Given the description of an element on the screen output the (x, y) to click on. 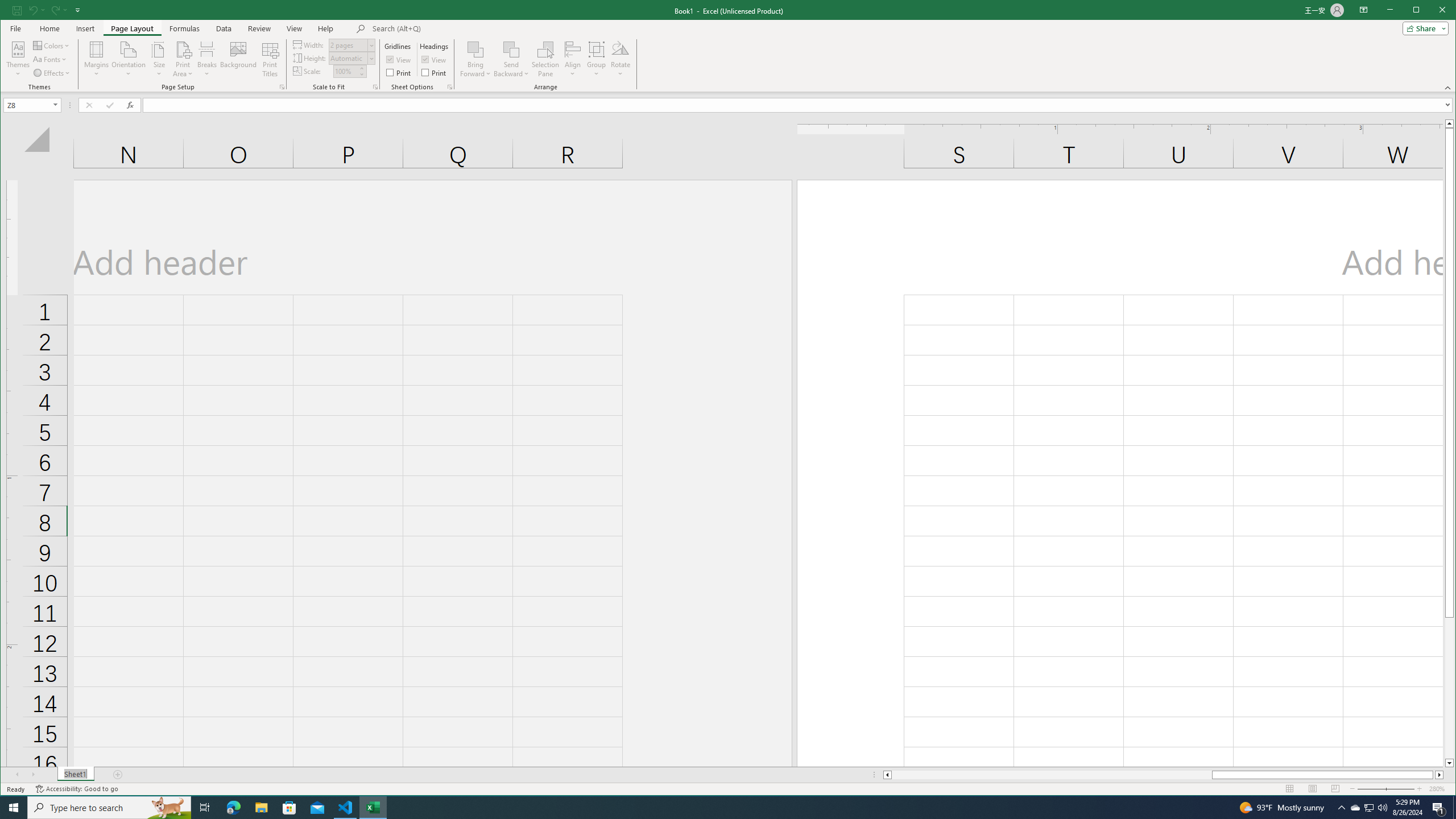
More (361, 68)
Width (347, 45)
Align (572, 59)
Page Setup (375, 86)
